Given the description of an element on the screen output the (x, y) to click on. 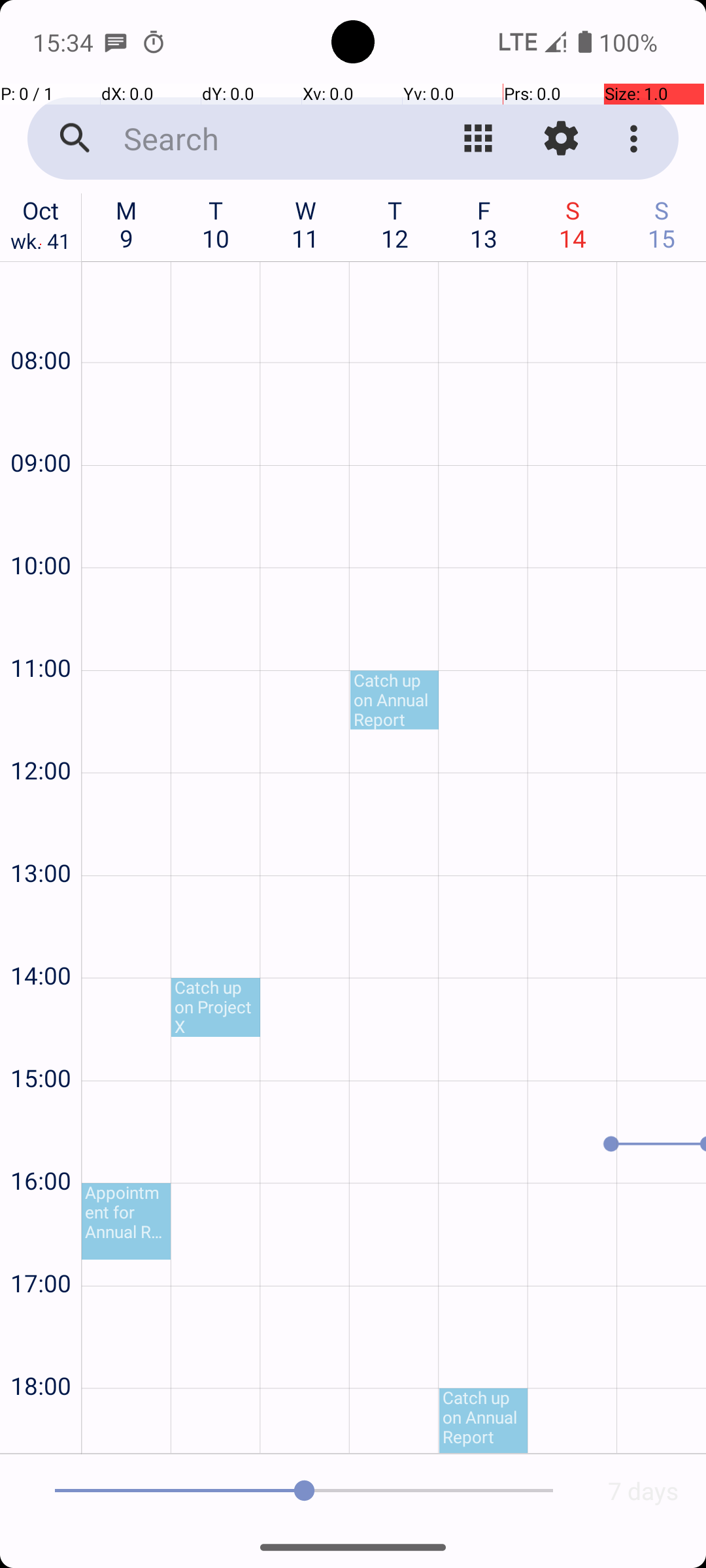
wk. 41 Element type: android.widget.TextView (40, 243)
7 days Element type: android.widget.TextView (642, 1490)
19:00 Element type: android.widget.TextView (40, 1428)
M
9 Element type: android.widget.TextView (126, 223)
T
10 Element type: android.widget.TextView (215, 223)
W
11 Element type: android.widget.TextView (305, 223)
T
12 Element type: android.widget.TextView (394, 223)
F
13 Element type: android.widget.TextView (483, 223)
S
14 Element type: android.widget.TextView (572, 223)
S
15 Element type: android.widget.TextView (661, 223)
Appointment for Annual Report Element type: android.widget.TextView (125, 1221)
